Given the description of an element on the screen output the (x, y) to click on. 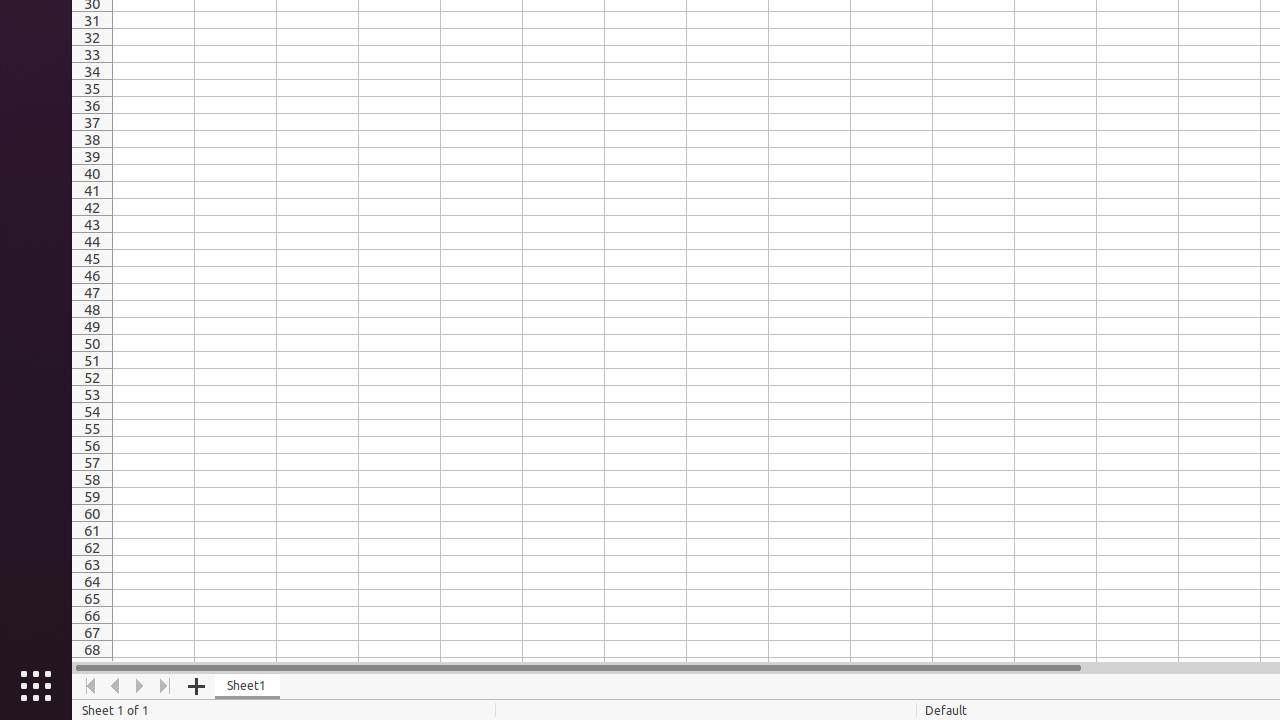
Sheet1 Element type: page-tab (247, 686)
Show Applications Element type: toggle-button (36, 686)
Move To End Element type: push-button (165, 686)
Move Right Element type: push-button (140, 686)
Move To Home Element type: push-button (90, 686)
